Given the description of an element on the screen output the (x, y) to click on. 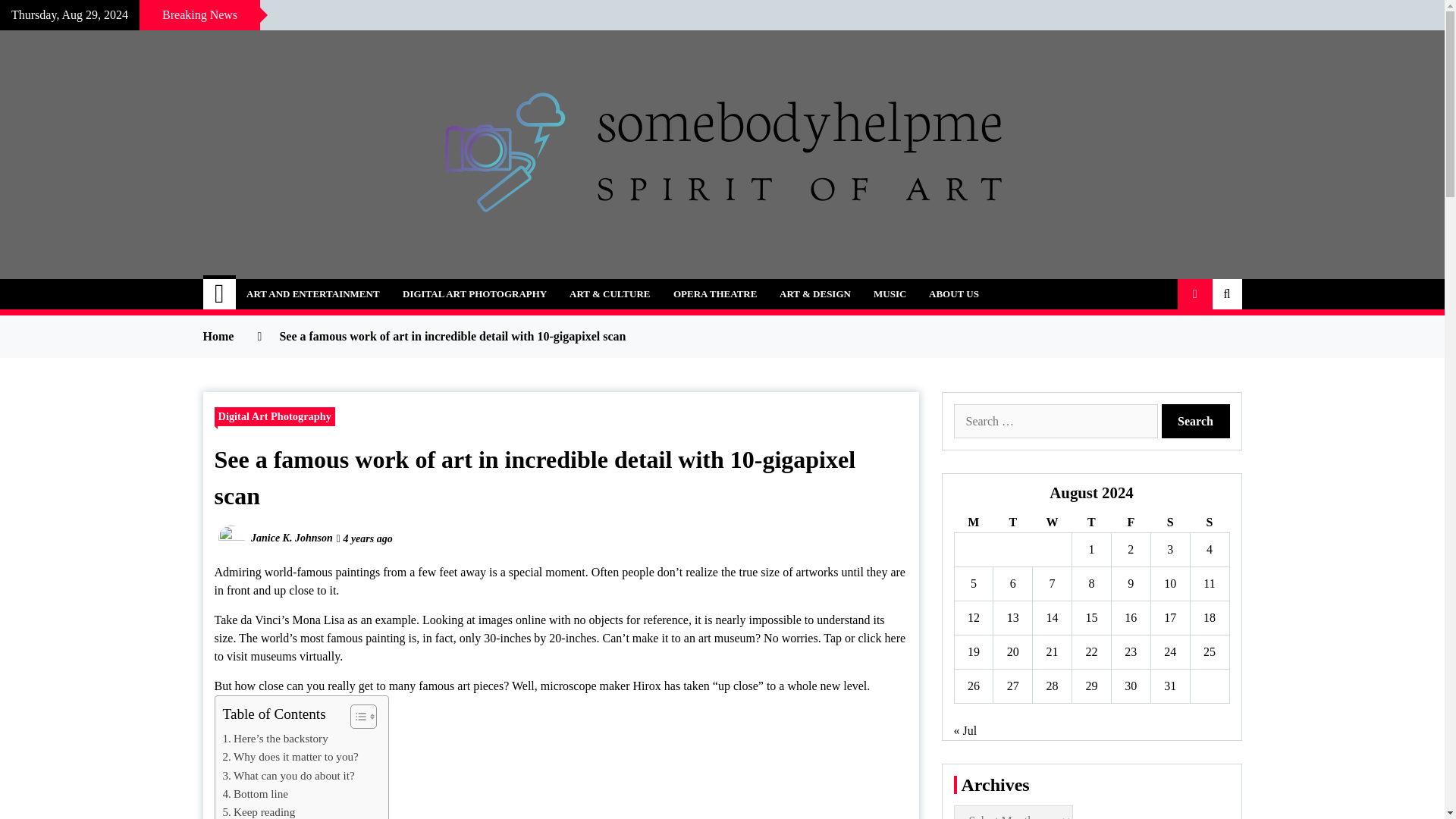
ART AND ENTERTAINMENT (312, 294)
Friday (1130, 522)
Keep reading (258, 811)
Search (1195, 421)
Saturday (1169, 522)
Thursday (1091, 522)
Bottom line (255, 793)
ABOUT US (953, 294)
Search (1195, 421)
What can you do about it? (288, 775)
